Given the description of an element on the screen output the (x, y) to click on. 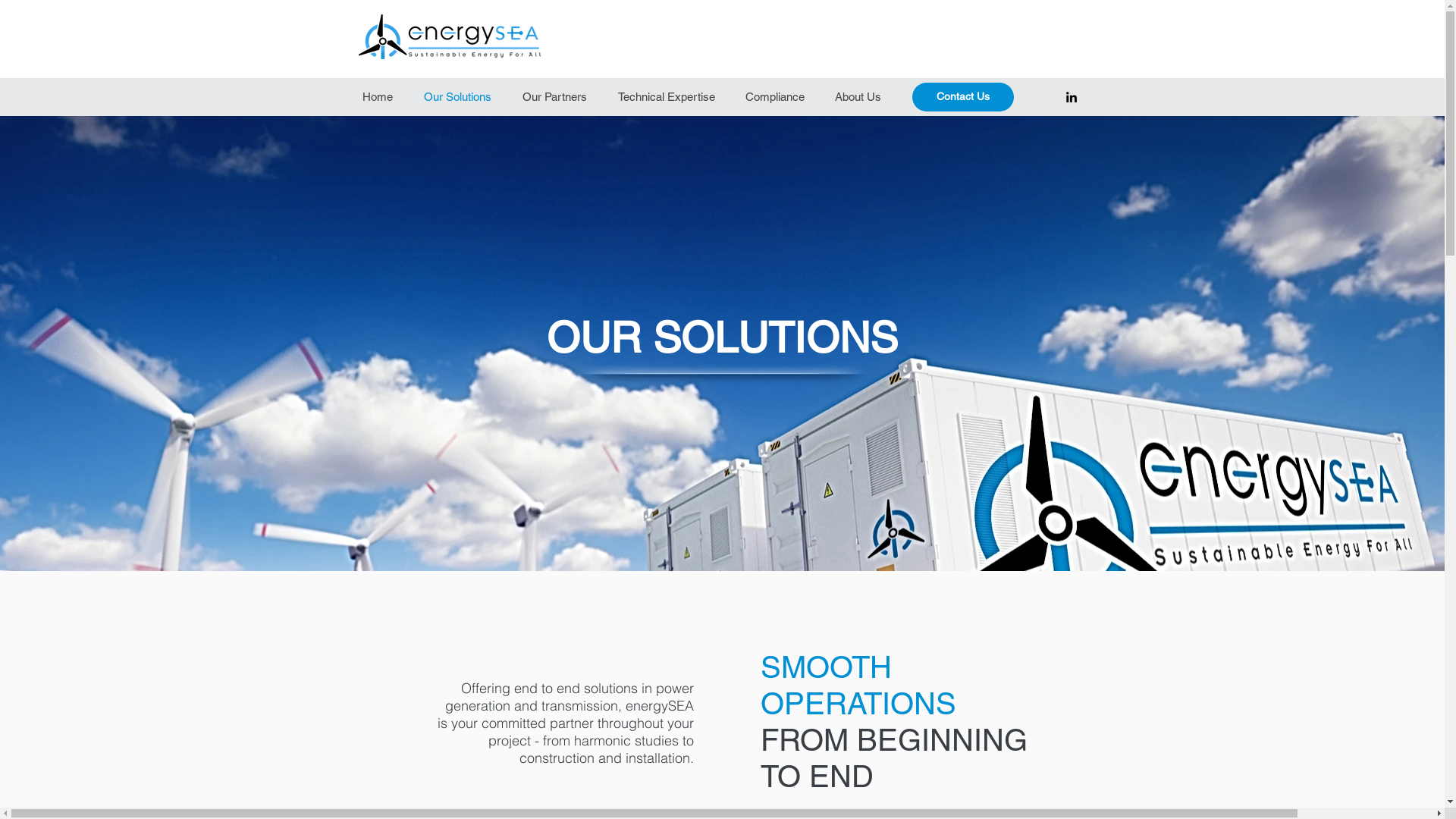
Contact Us Element type: text (962, 96)
Compliance Element type: text (777, 97)
Our Partners Element type: text (557, 97)
Technical Expertise Element type: text (668, 97)
Our Solutions Element type: text (460, 97)
About Us Element type: text (860, 97)
Home Element type: text (380, 97)
